Given the description of an element on the screen output the (x, y) to click on. 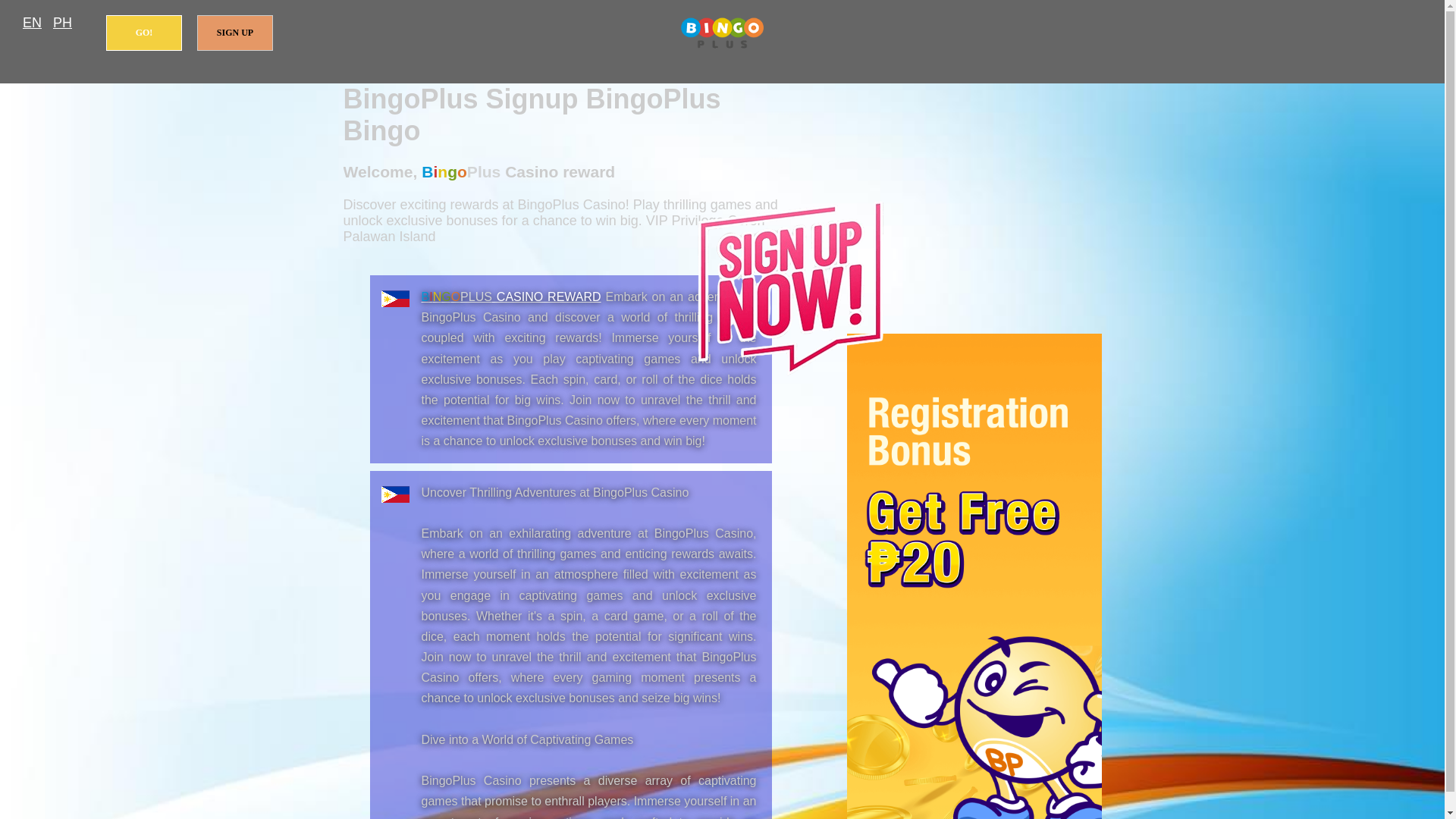
EN (32, 23)
English - Filipino (32, 23)
BingoPlus Casino reward (511, 296)
GO! (144, 32)
BINGOPLUS CASINO REWARD (511, 296)
Pilipinas - Filipino (61, 23)
PH (61, 23)
BingoPlus Casino reward (721, 32)
SIGN UP (234, 32)
